Given the description of an element on the screen output the (x, y) to click on. 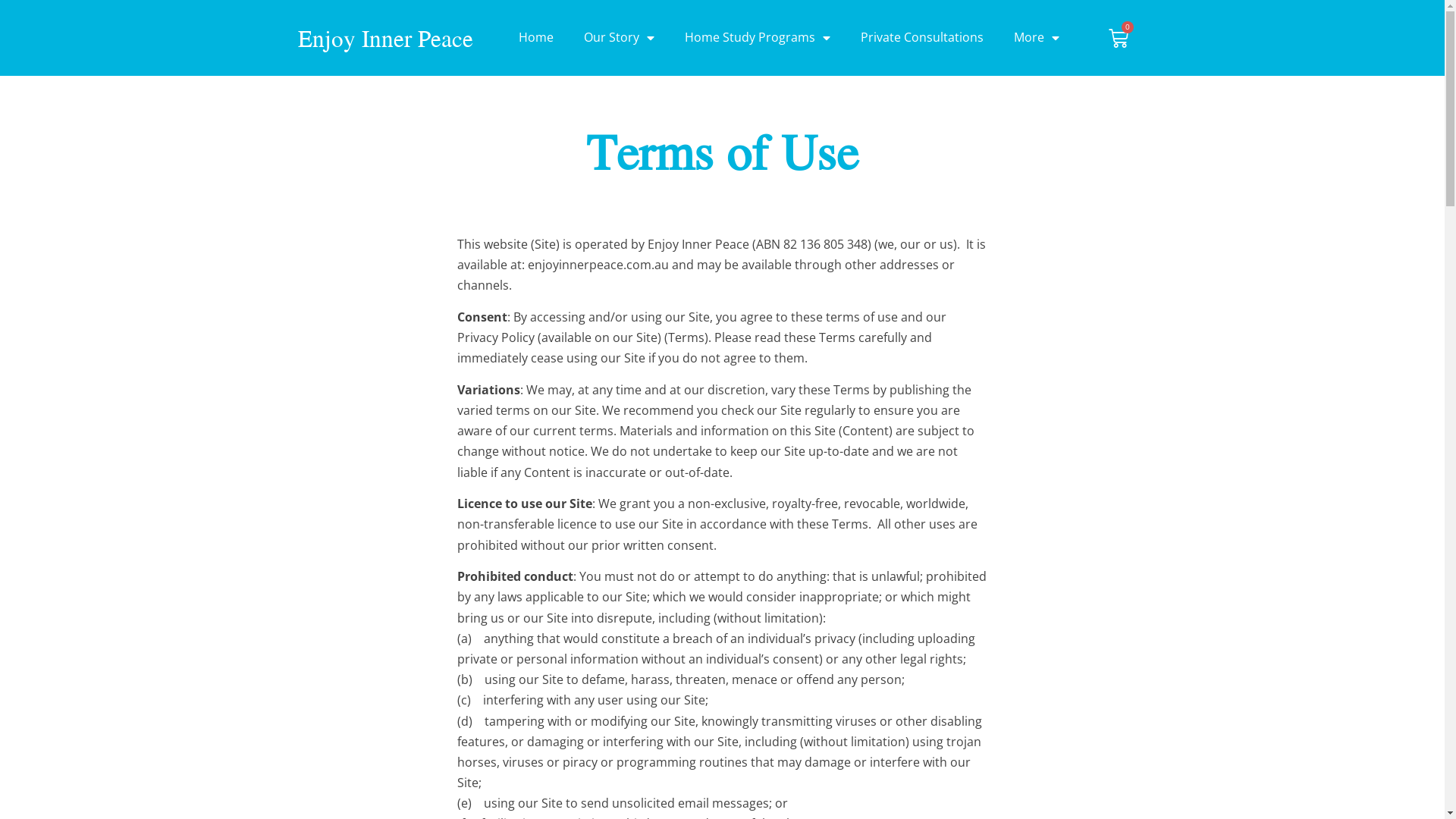
Our Story Element type: text (618, 37)
Private Consultations Element type: text (921, 37)
Enjoy Inner Peace Element type: text (384, 37)
More Element type: text (1036, 37)
Home Element type: text (535, 37)
Home Study Programs Element type: text (757, 37)
0 Element type: text (1118, 37)
